Given the description of an element on the screen output the (x, y) to click on. 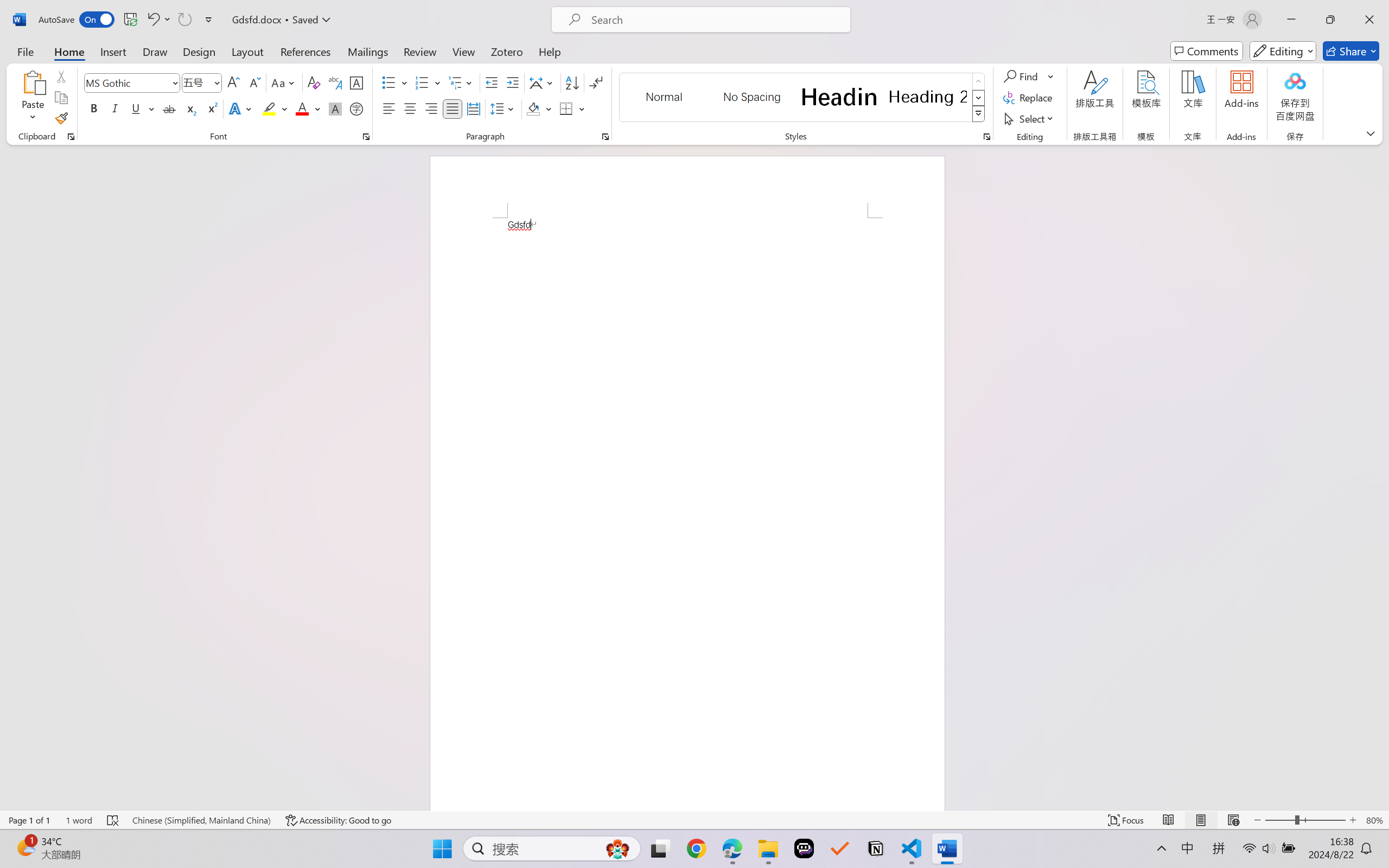
Class: MsoCommandBar (694, 819)
Page 1 content (686, 513)
